Given the description of an element on the screen output the (x, y) to click on. 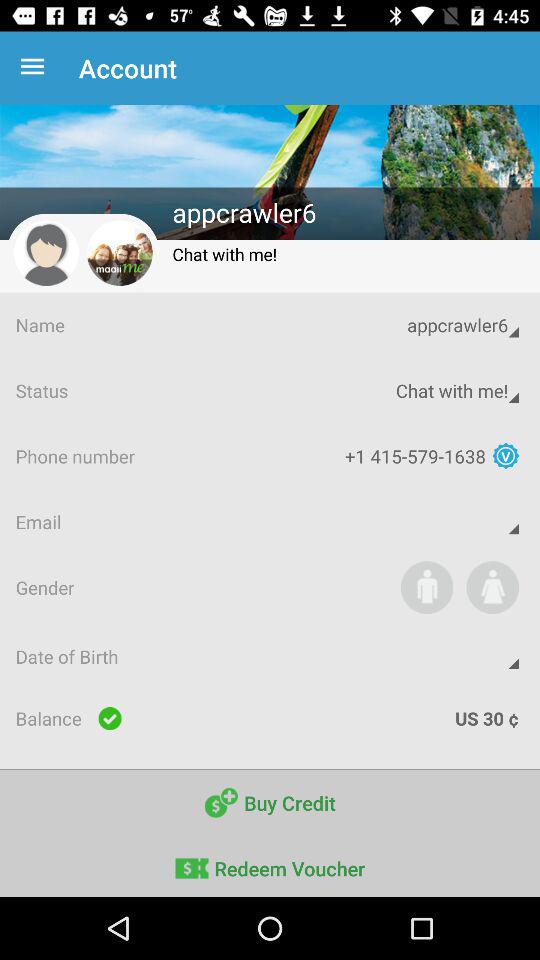
click the icon above date of birth item (426, 587)
